Given the description of an element on the screen output the (x, y) to click on. 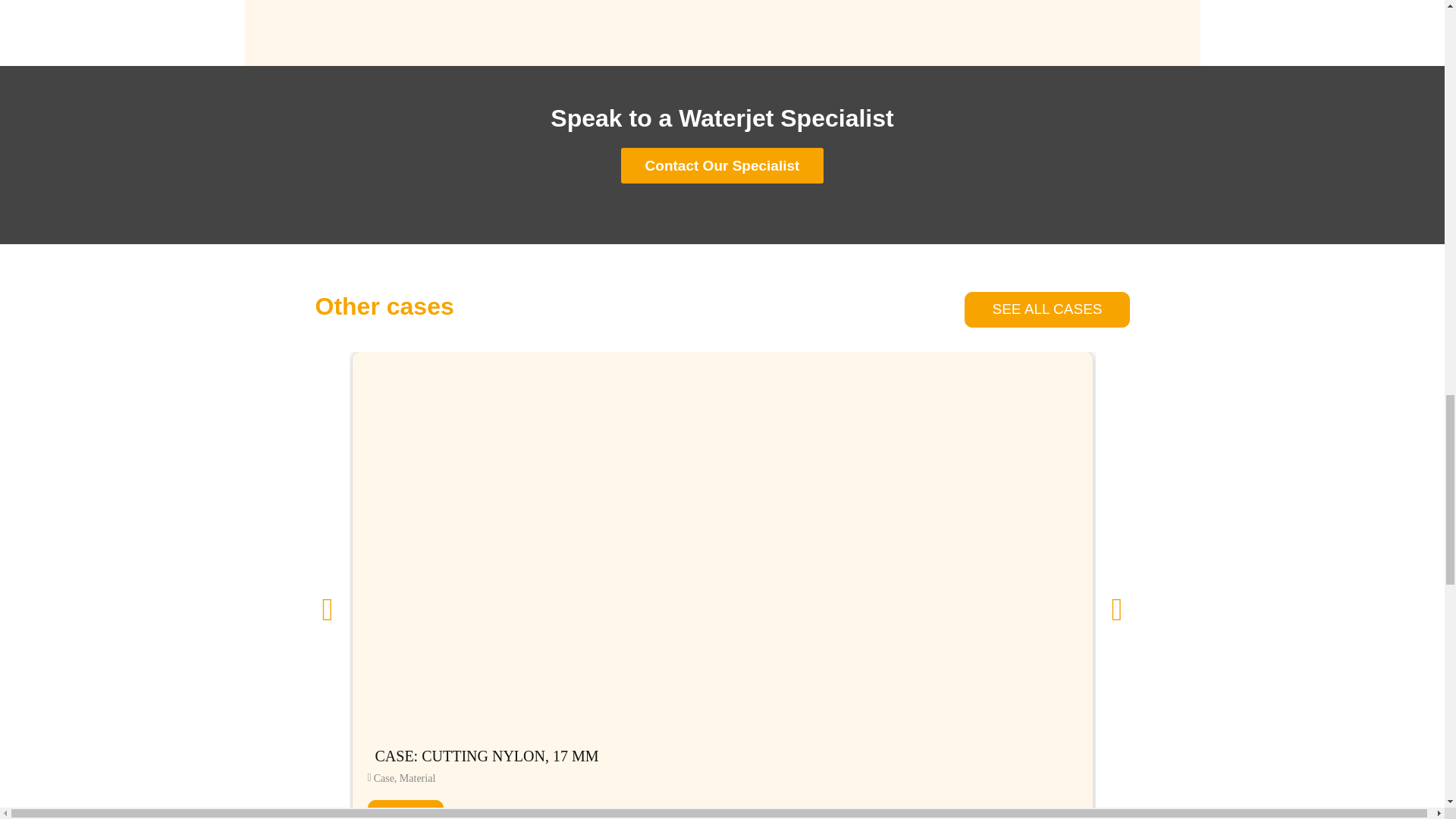
Material (416, 778)
Contact Our Specialist (722, 165)
SEE ALL CASES (1046, 309)
Case (384, 778)
CASE: CUTTING NYLON, 17 MM (721, 755)
